Given the description of an element on the screen output the (x, y) to click on. 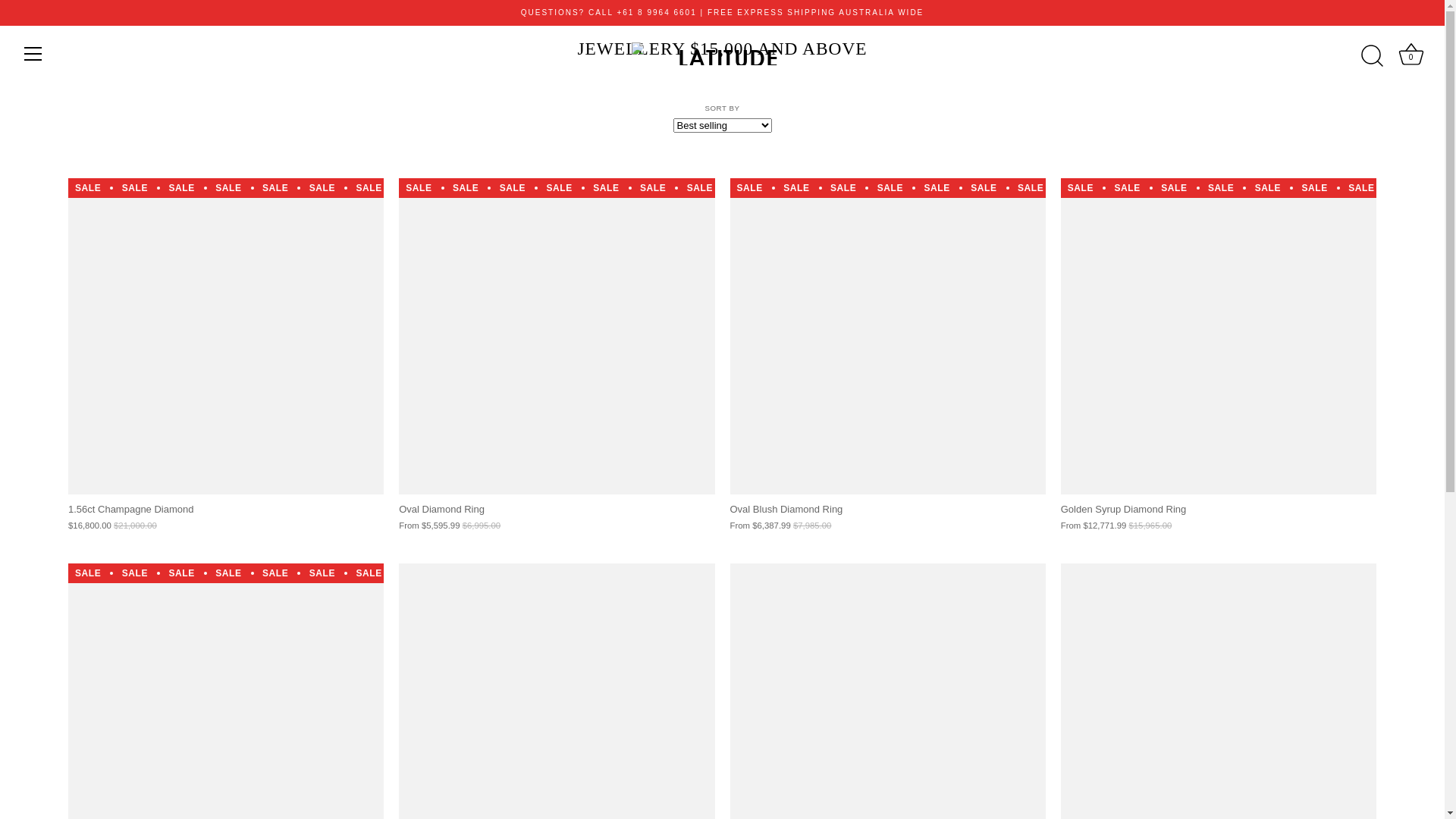
0 Element type: text (1410, 55)
Golden Syrup Diamond Ring
From $12,771.99 $15,965.00 Element type: text (1218, 513)
1.56ct Champagne Diamond
$16,800.00 $21,000.00 Element type: text (225, 513)
Oval Diamond Ring
From $5,595.99 $6,995.00 Element type: text (556, 513)
Oval Blush Diamond Ring
From $6,387.99 $7,985.00 Element type: text (886, 513)
